Given the description of an element on the screen output the (x, y) to click on. 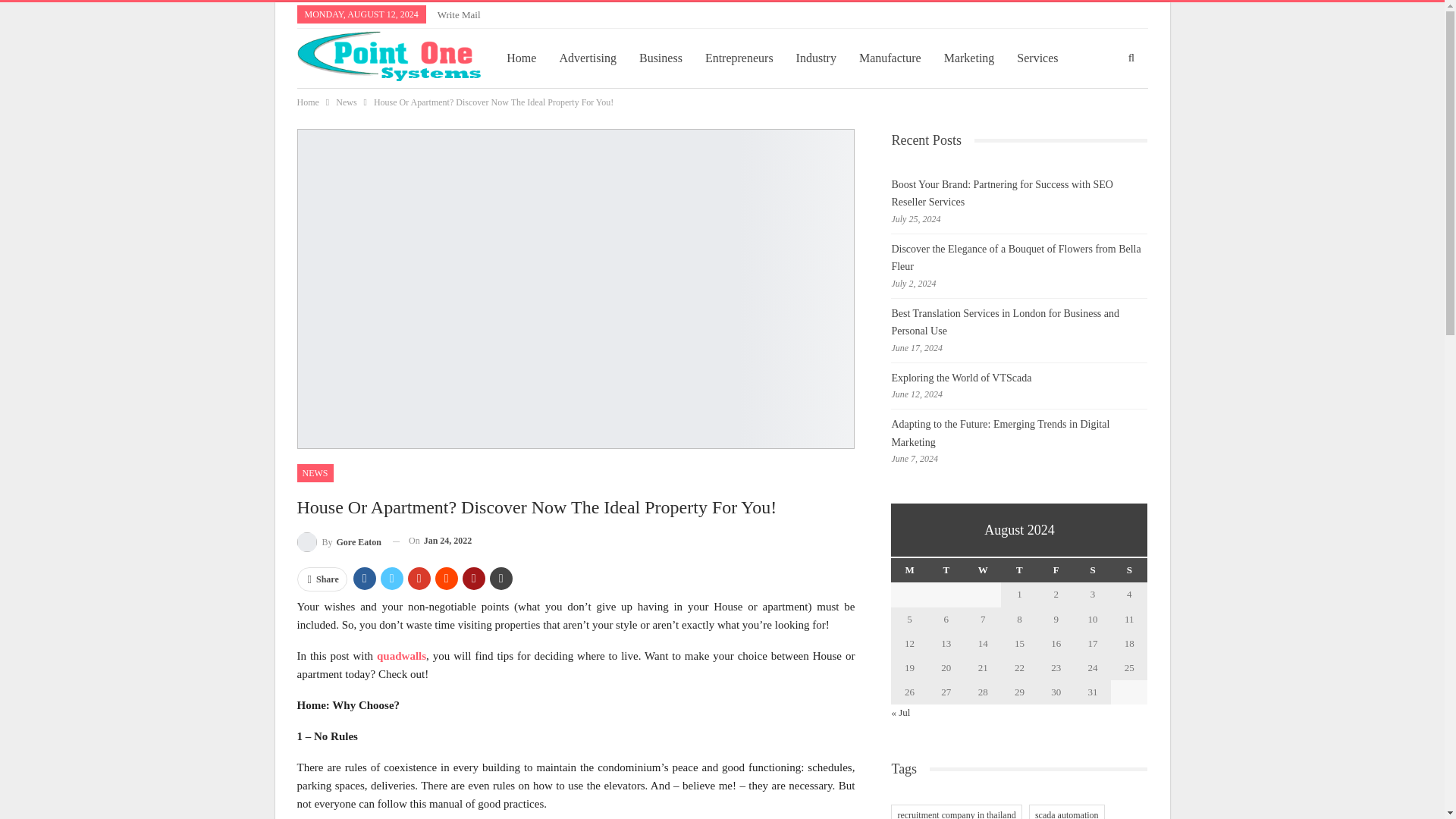
Monday (909, 569)
quadwalls (401, 655)
Business (660, 57)
Browse Author Articles (339, 540)
News (346, 102)
Advertising (587, 57)
By Gore Eaton (339, 540)
Entrepreneurs (739, 57)
Thursday (1018, 569)
Industry (815, 57)
